Given the description of an element on the screen output the (x, y) to click on. 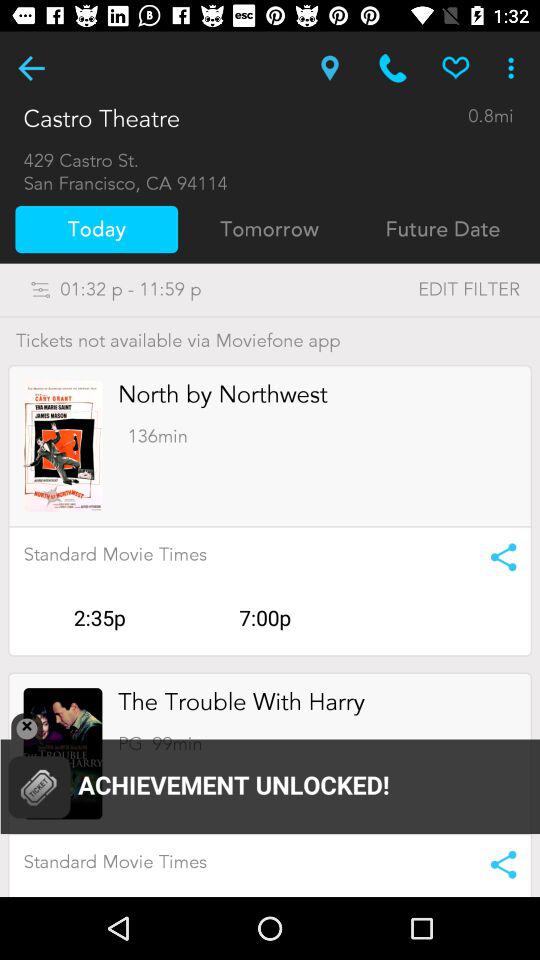
back the option (31, 67)
